Given the description of an element on the screen output the (x, y) to click on. 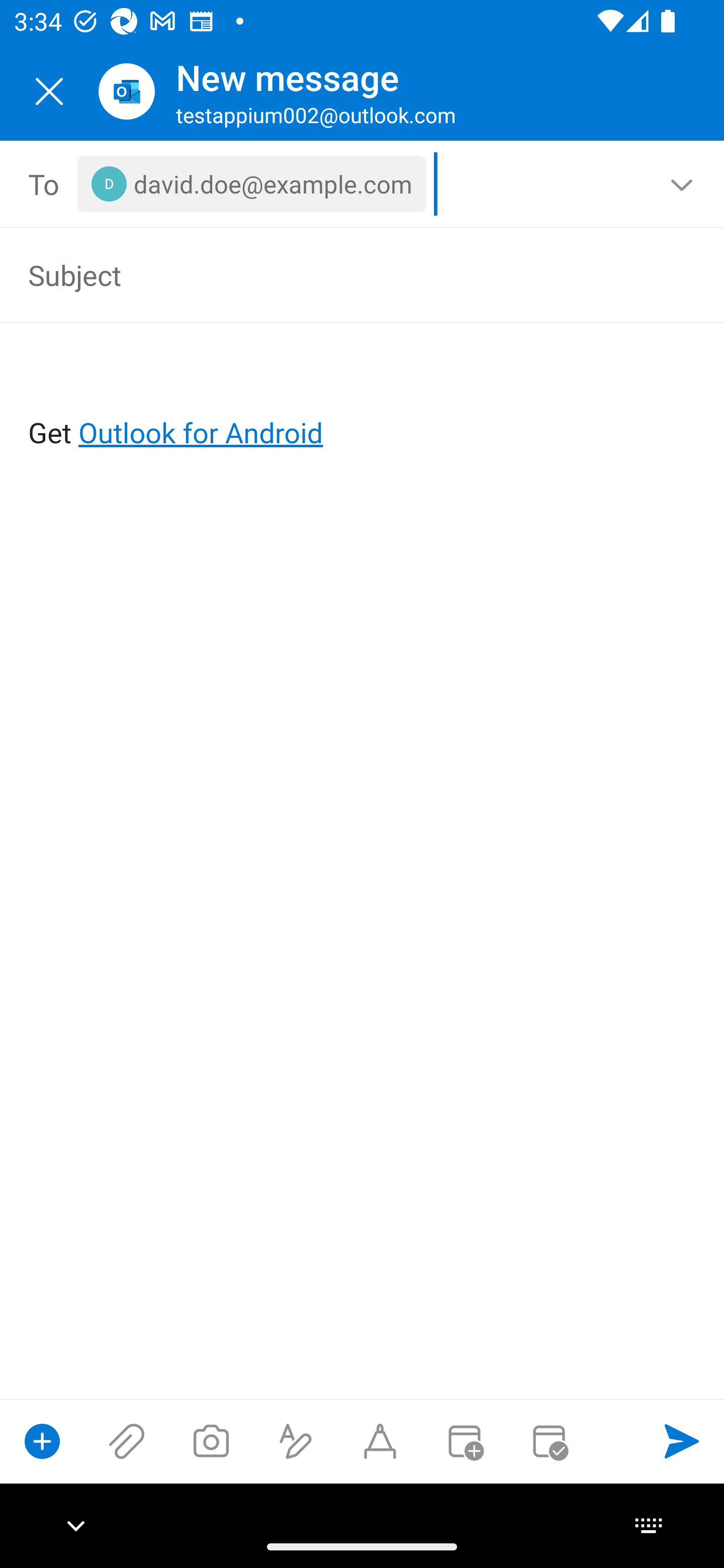
Close (49, 91)
To, 1 recipient <david.doe@example.com> (362, 184)
Subject (333, 274)


Get Outlook for Android (363, 400)
Show compose options (42, 1440)
Attach files (126, 1440)
Take a photo (210, 1440)
Show formatting options (295, 1440)
Start Ink compose (380, 1440)
Convert to event (464, 1440)
Send availability (548, 1440)
Send (681, 1440)
